Given the description of an element on the screen output the (x, y) to click on. 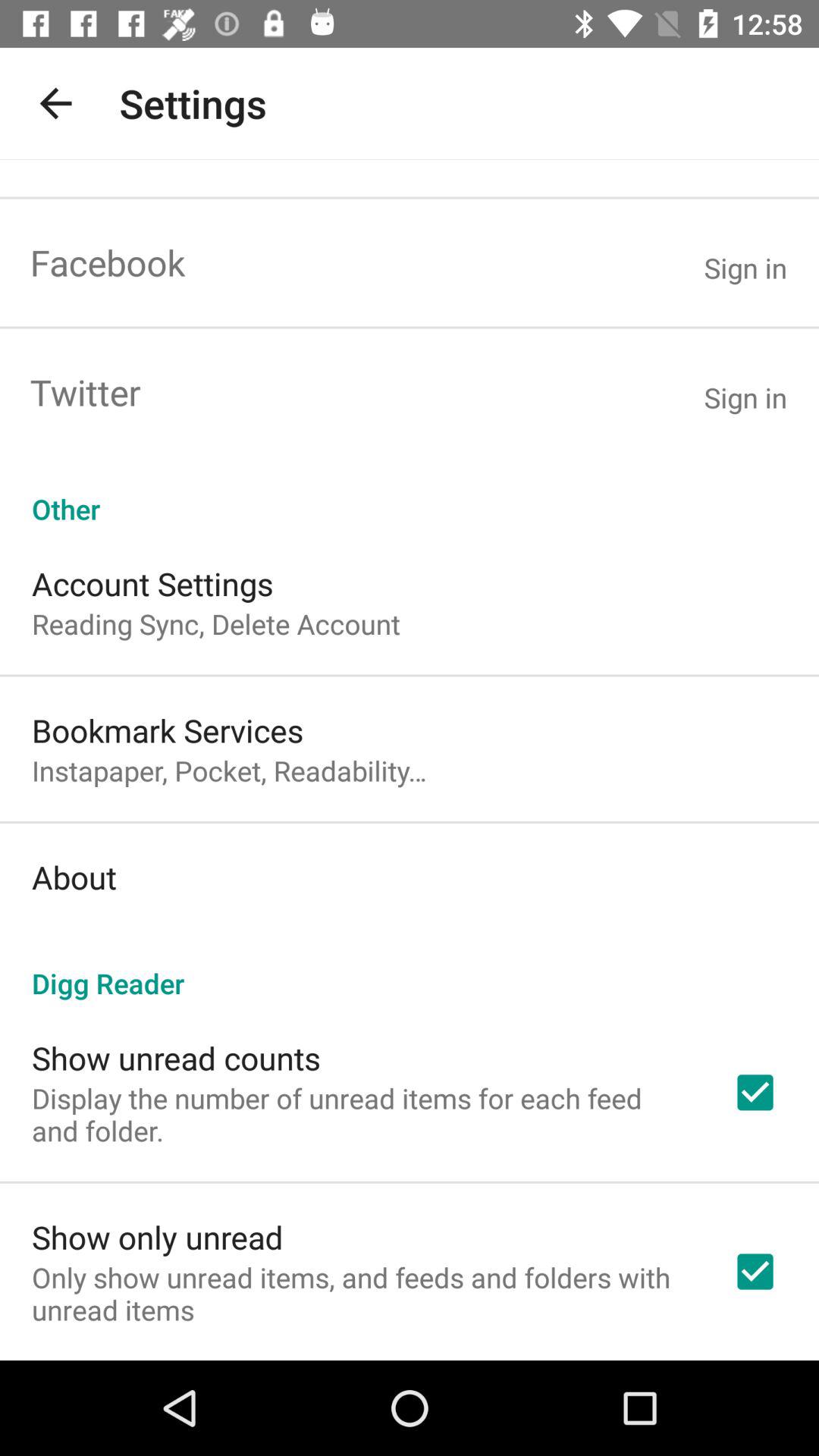
press the app next to sign in item (107, 262)
